Given the description of an element on the screen output the (x, y) to click on. 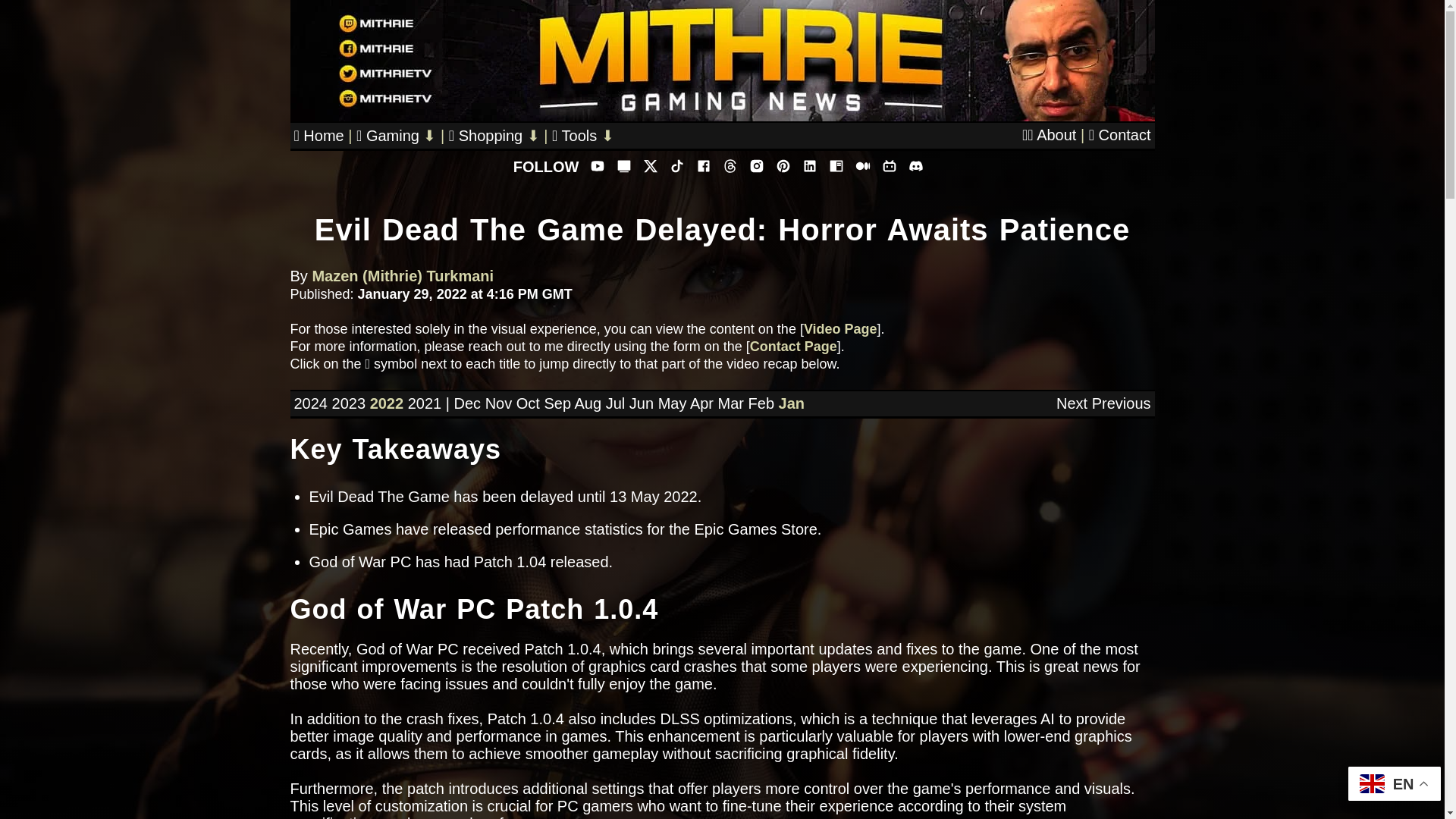
Contact Page (793, 346)
Dec (466, 402)
Video Page (840, 328)
2024 (311, 402)
2021 (424, 402)
2023 (348, 402)
